Given the description of an element on the screen output the (x, y) to click on. 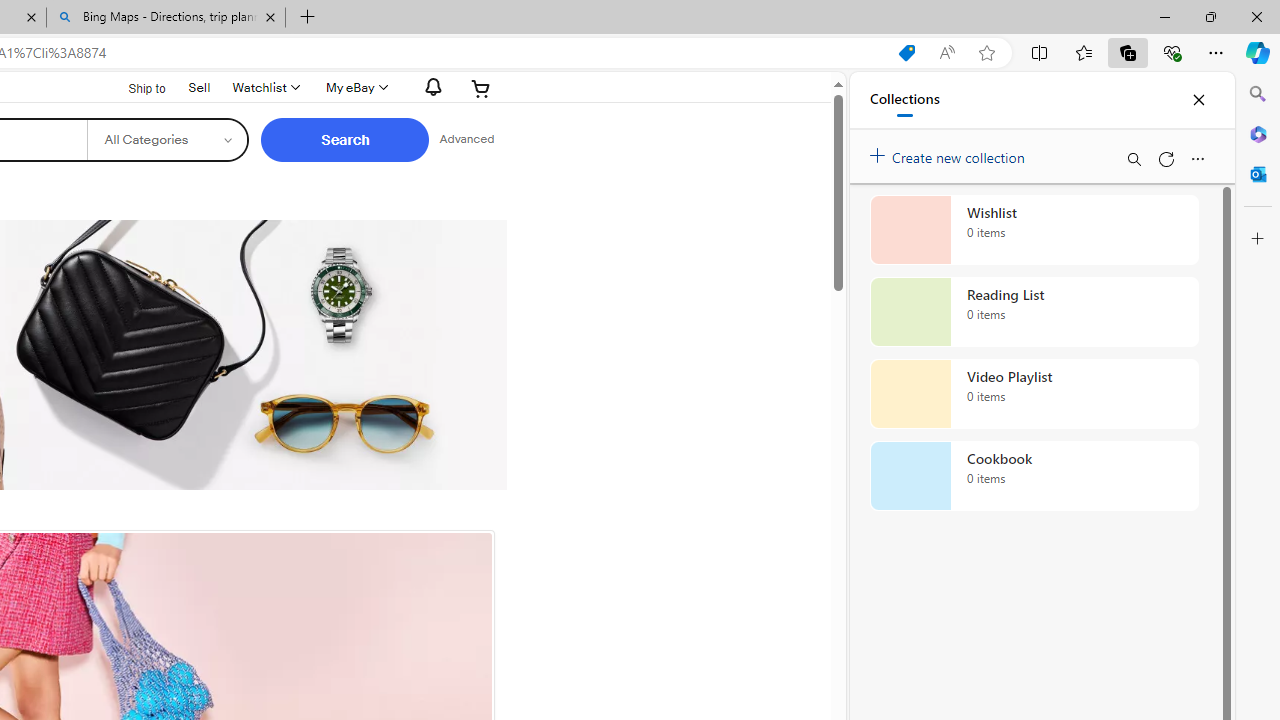
Ship to (134, 89)
You have the best price! (828, 53)
WatchlistExpand Watch List (264, 88)
Ship to (134, 86)
AutomationID: gh-eb-Alerts (430, 87)
Reading List collection, 0 items (1034, 312)
Expand Cart (481, 88)
